Given the description of an element on the screen output the (x, y) to click on. 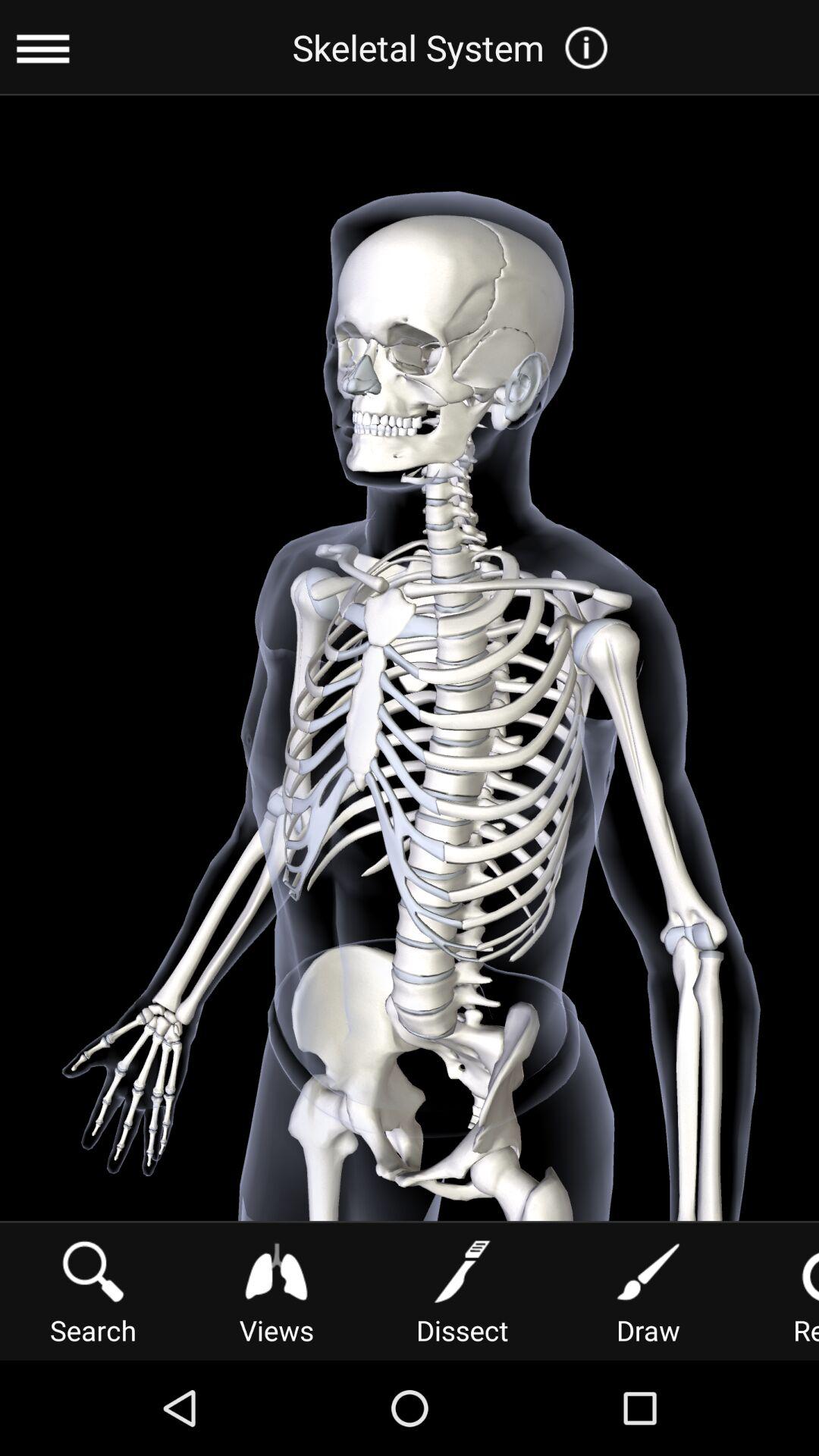
tap button to the left of the draw item (462, 1290)
